Given the description of an element on the screen output the (x, y) to click on. 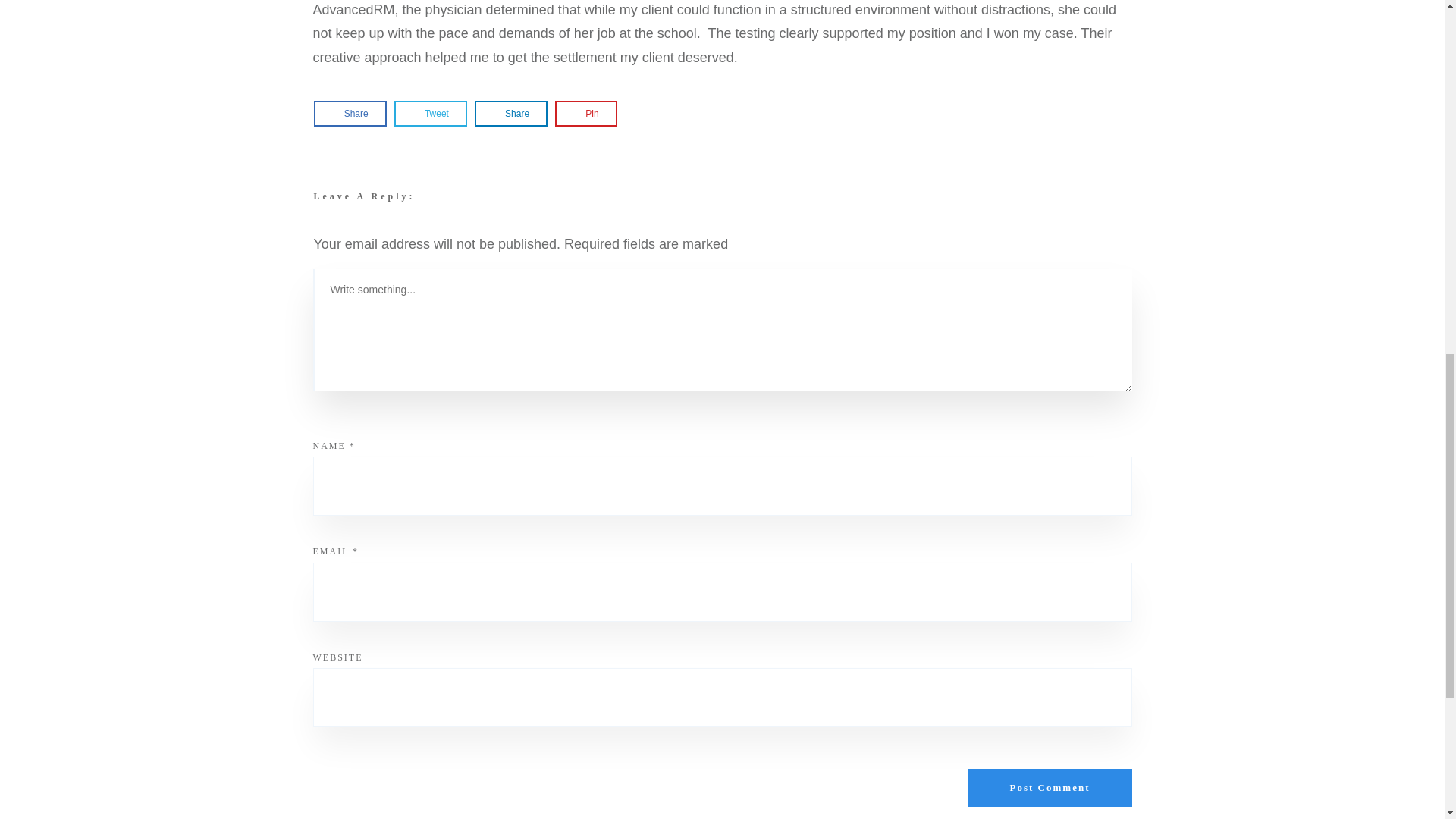
Share (350, 113)
Tweet (430, 113)
Share (511, 113)
Post Comment (1049, 787)
Pin (585, 113)
